Given the description of an element on the screen output the (x, y) to click on. 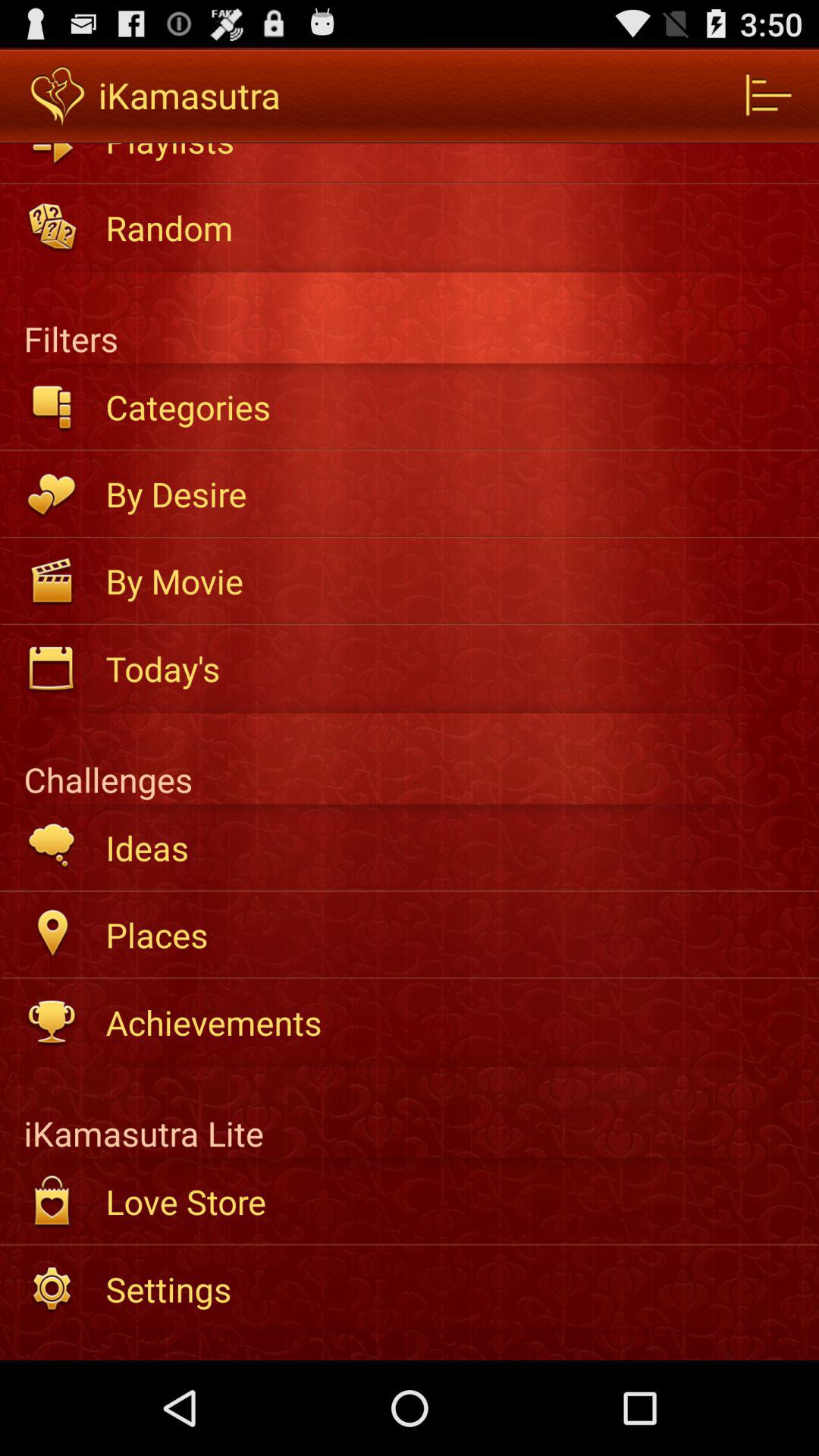
flip until playlists icon (452, 153)
